Given the description of an element on the screen output the (x, y) to click on. 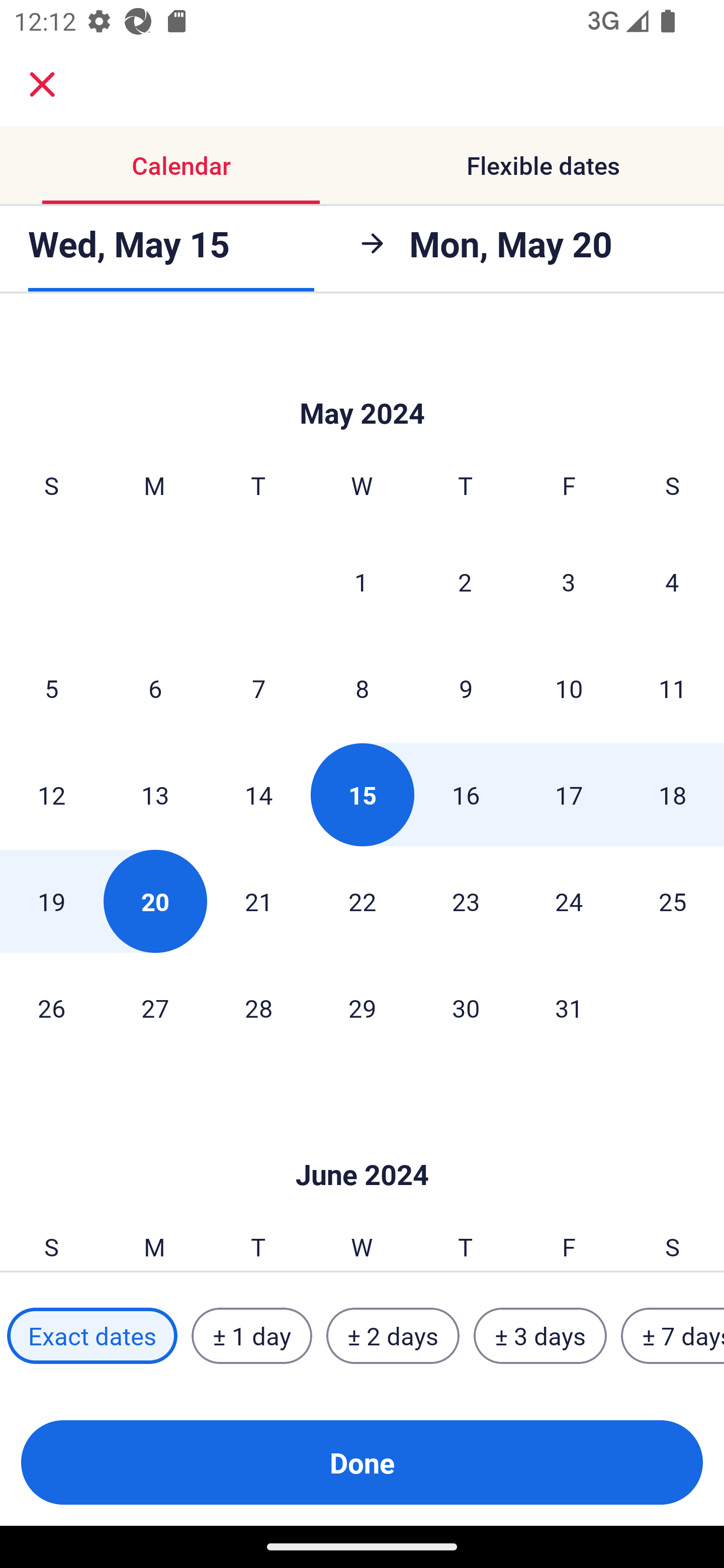
close. (42, 84)
Flexible dates (542, 164)
Skip to Done (362, 382)
1 Wednesday, May 1, 2024 (361, 581)
2 Thursday, May 2, 2024 (464, 581)
3 Friday, May 3, 2024 (568, 581)
4 Saturday, May 4, 2024 (672, 581)
5 Sunday, May 5, 2024 (51, 688)
6 Monday, May 6, 2024 (155, 688)
7 Tuesday, May 7, 2024 (258, 688)
8 Wednesday, May 8, 2024 (362, 688)
9 Thursday, May 9, 2024 (465, 688)
10 Friday, May 10, 2024 (569, 688)
11 Saturday, May 11, 2024 (672, 688)
12 Sunday, May 12, 2024 (51, 794)
13 Monday, May 13, 2024 (155, 794)
14 Tuesday, May 14, 2024 (258, 794)
21 Tuesday, May 21, 2024 (258, 901)
22 Wednesday, May 22, 2024 (362, 901)
23 Thursday, May 23, 2024 (465, 901)
24 Friday, May 24, 2024 (569, 901)
25 Saturday, May 25, 2024 (672, 901)
26 Sunday, May 26, 2024 (51, 1007)
27 Monday, May 27, 2024 (155, 1007)
28 Tuesday, May 28, 2024 (258, 1007)
29 Wednesday, May 29, 2024 (362, 1007)
30 Thursday, May 30, 2024 (465, 1007)
31 Friday, May 31, 2024 (569, 1007)
Skip to Done (362, 1144)
Exact dates (92, 1335)
± 1 day (251, 1335)
± 2 days (392, 1335)
± 3 days (539, 1335)
± 7 days (672, 1335)
Done (361, 1462)
